Given the description of an element on the screen output the (x, y) to click on. 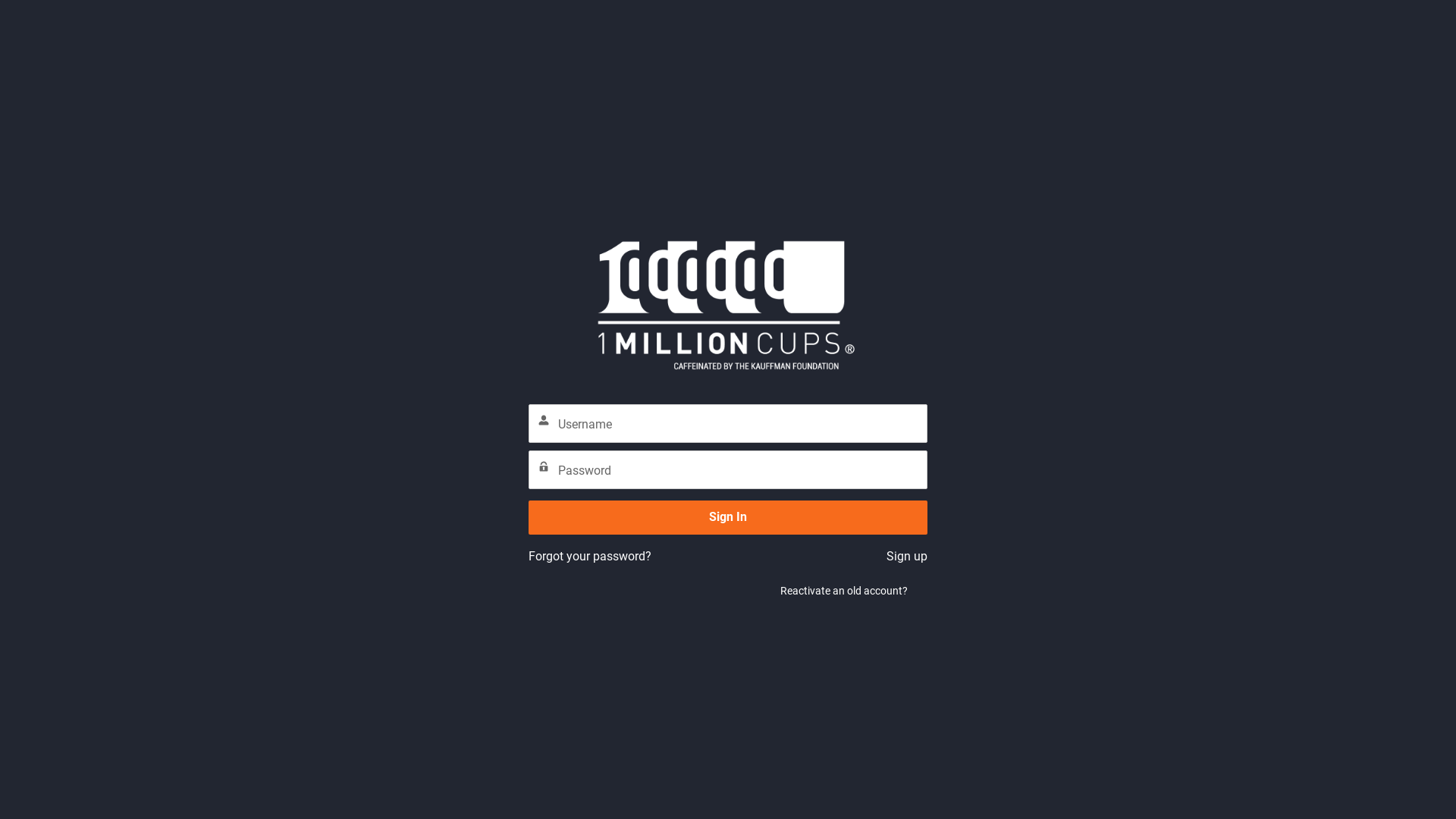
Reactivate an old account? Element type: text (843, 590)
Sign In Element type: text (727, 517)
Forgot your password? Element type: text (589, 556)
Sign up Element type: text (906, 556)
